Given the description of an element on the screen output the (x, y) to click on. 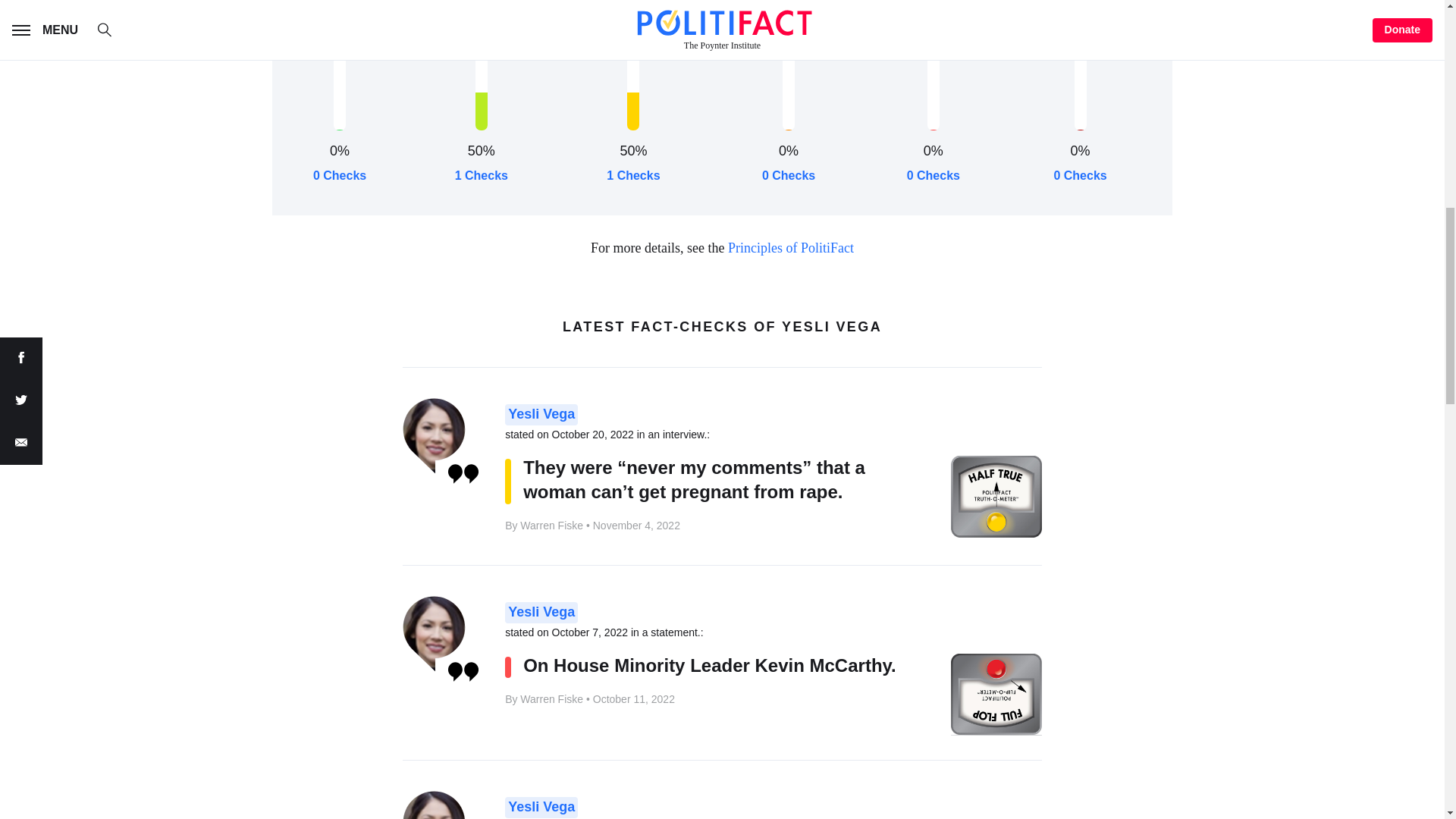
Yesli Vega (541, 414)
Yesli Vega (541, 612)
Yesli Vega (541, 807)
